Given the description of an element on the screen output the (x, y) to click on. 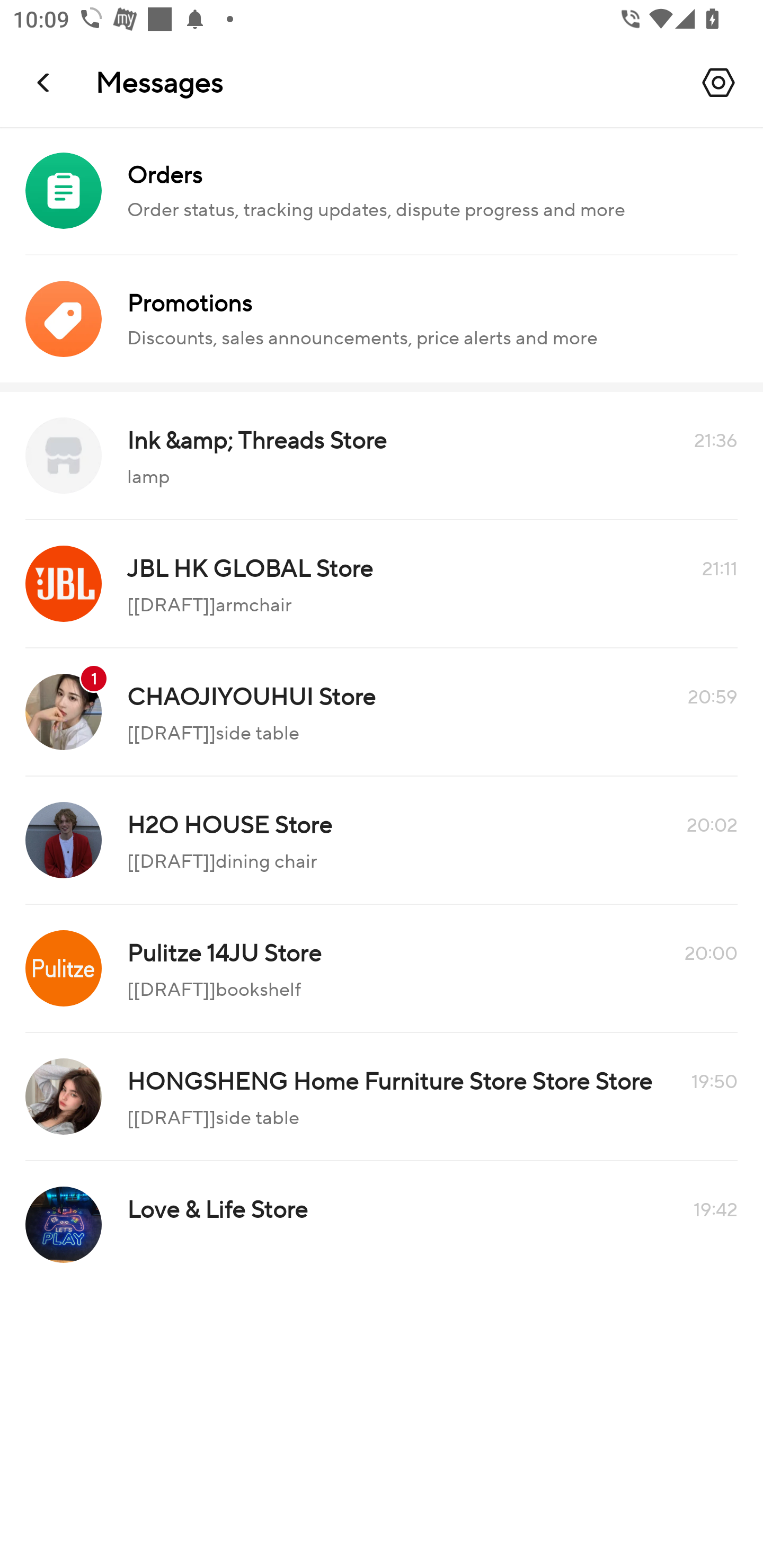
Navigate up (44, 82)
